Given the description of an element on the screen output the (x, y) to click on. 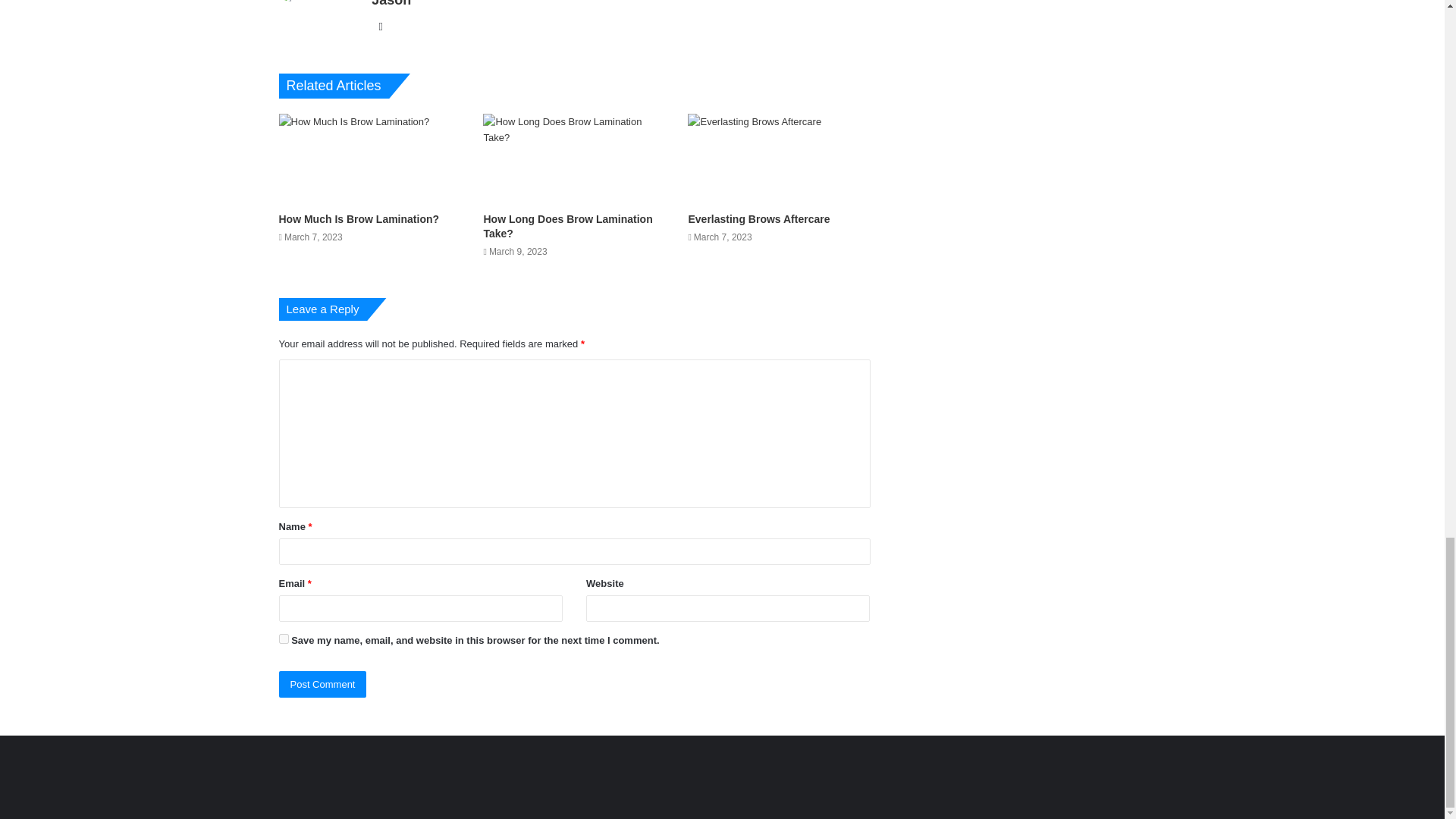
How Long Does Brow Lamination Take? (567, 225)
Everlasting Brows Aftercare (758, 218)
How Much Is Brow Lamination? (359, 218)
Jason (390, 3)
yes (283, 638)
Post Comment (322, 683)
Website (380, 26)
